Given the description of an element on the screen output the (x, y) to click on. 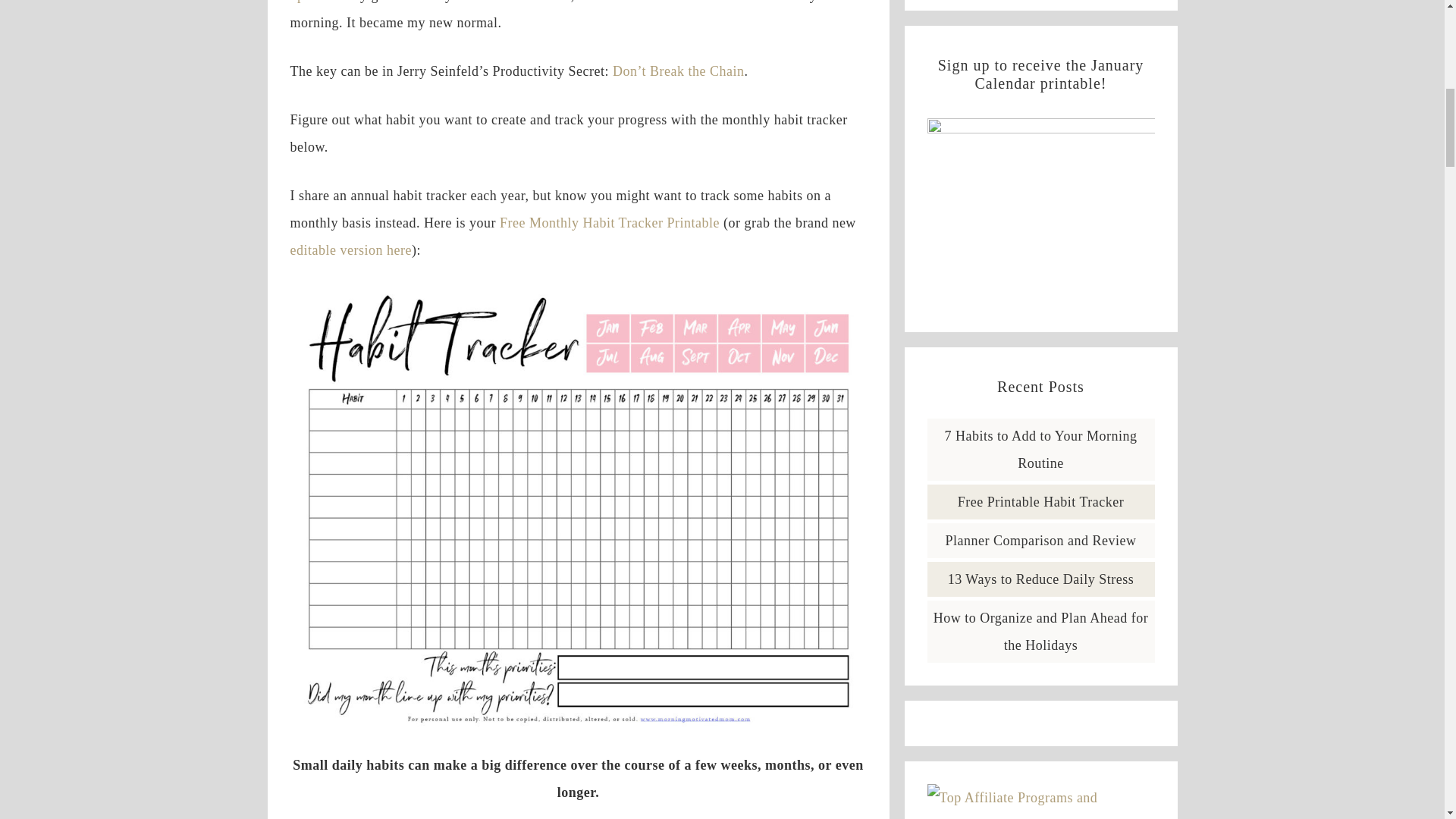
Free Monthly Habit Tracker Printable (609, 222)
editable version here (349, 249)
